Given the description of an element on the screen output the (x, y) to click on. 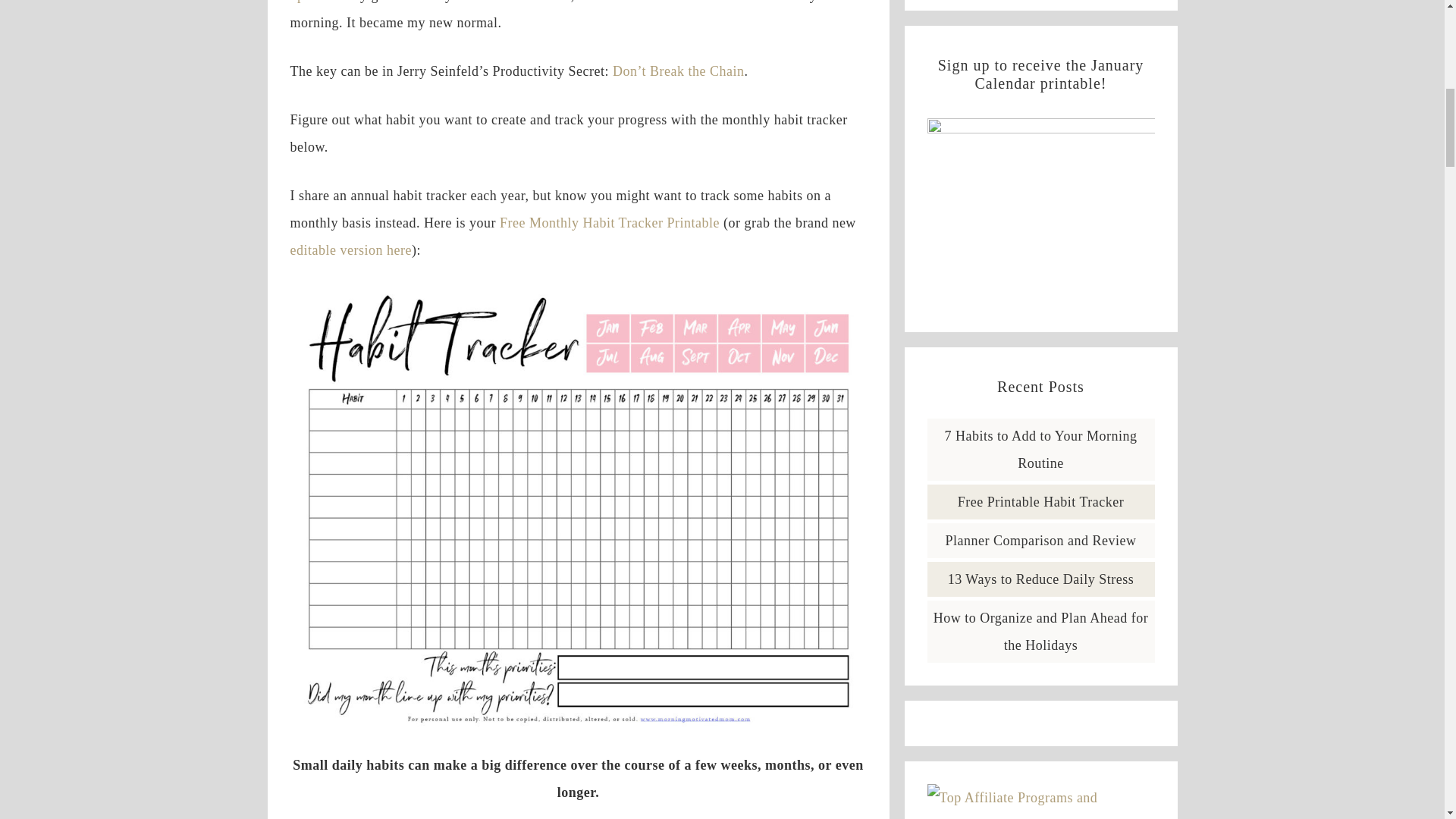
Free Monthly Habit Tracker Printable (609, 222)
editable version here (349, 249)
